Given the description of an element on the screen output the (x, y) to click on. 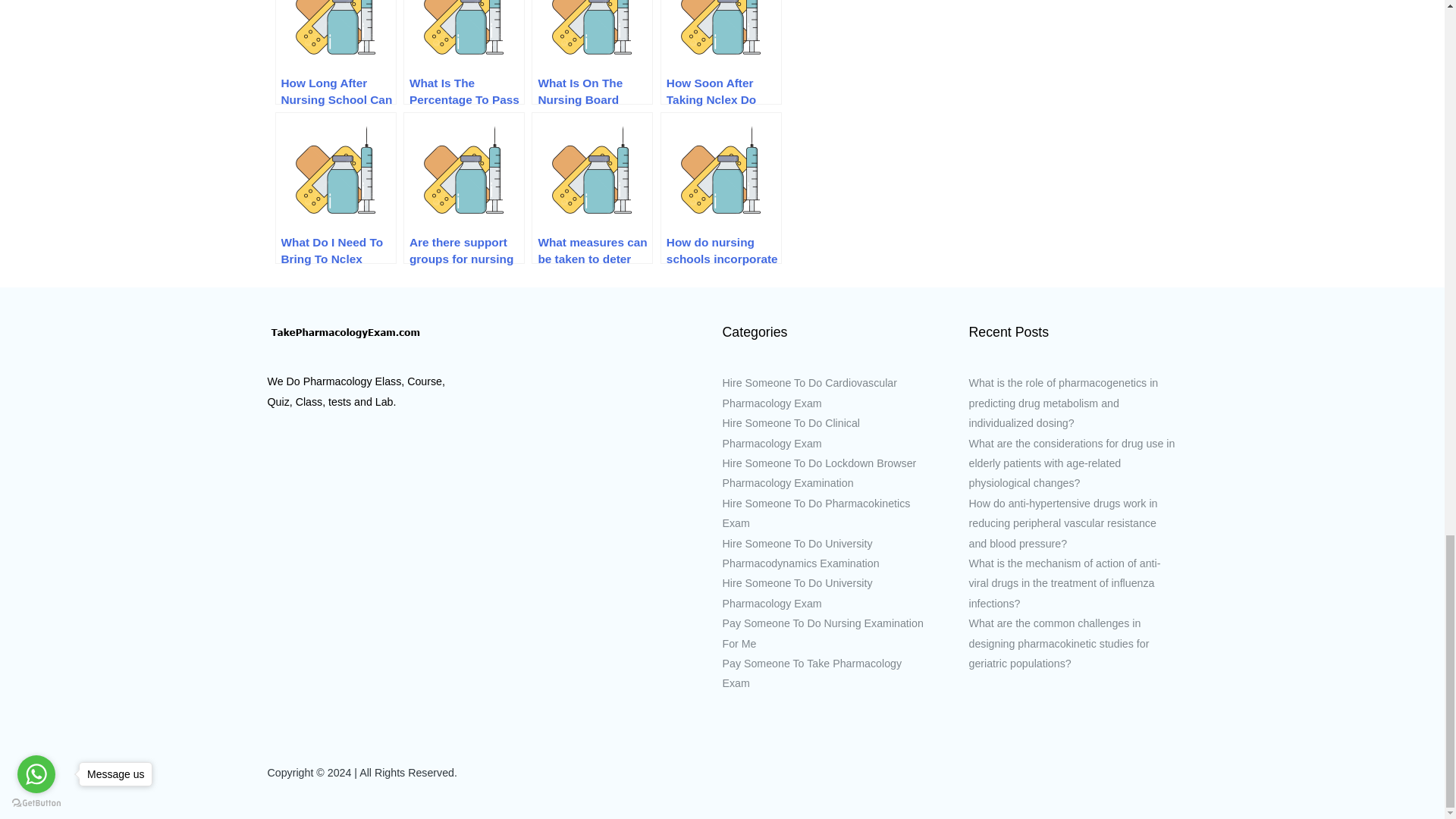
What Is On The Nursing Board Exam? (591, 52)
How Soon After Taking Nclex Do You Get Results? (721, 52)
What Is The Percentage To Pass Nclex? (463, 52)
How Long After Nursing School Can You Take Nclex? (335, 52)
How Long After Nursing School Can You Take Nclex? (335, 52)
What Is The Percentage To Pass Nclex? (463, 52)
What Do I Need To Bring To Nclex 2018? (335, 187)
